Given the description of an element on the screen output the (x, y) to click on. 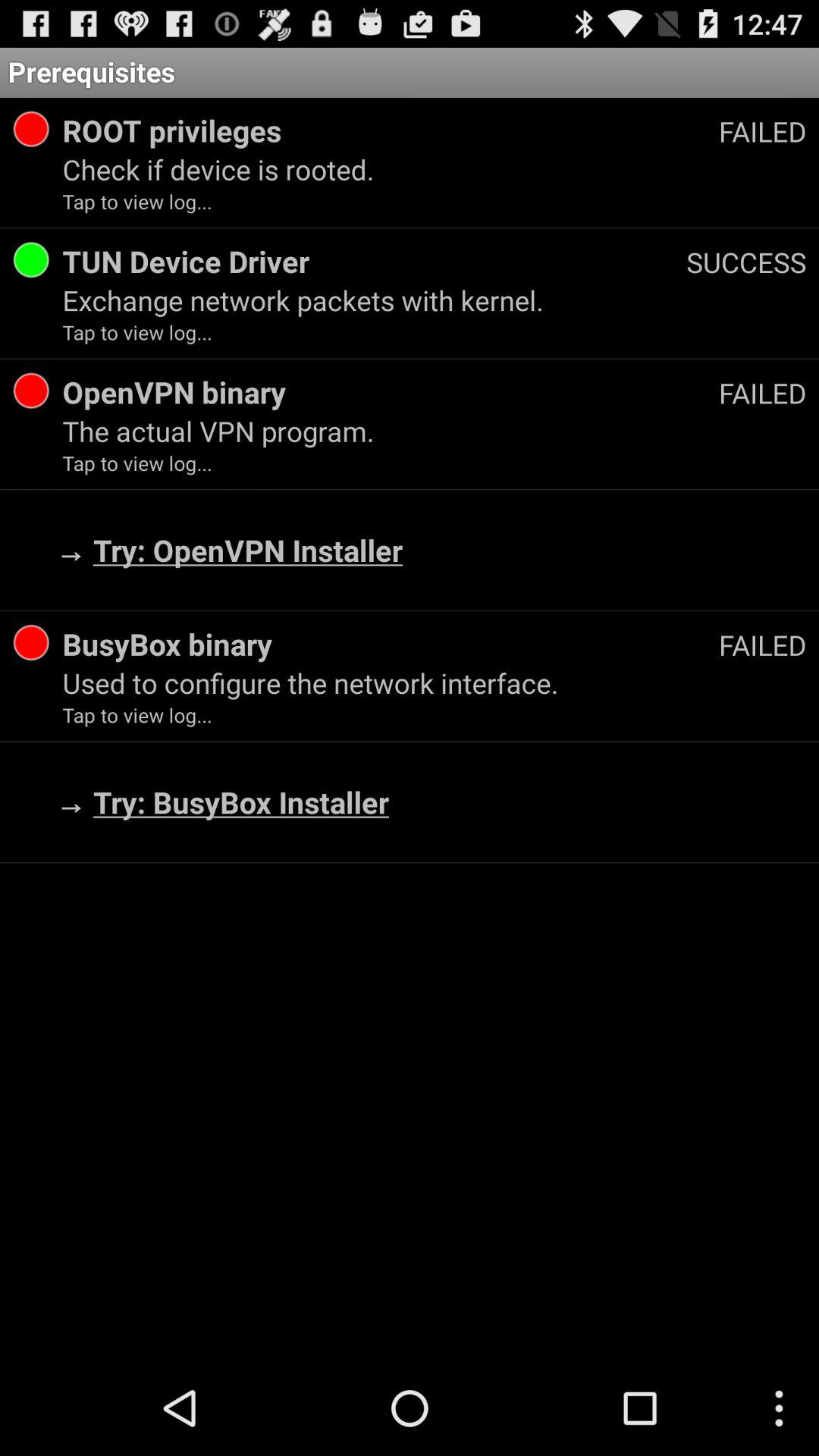
open root privileges icon (390, 130)
